Given the description of an element on the screen output the (x, y) to click on. 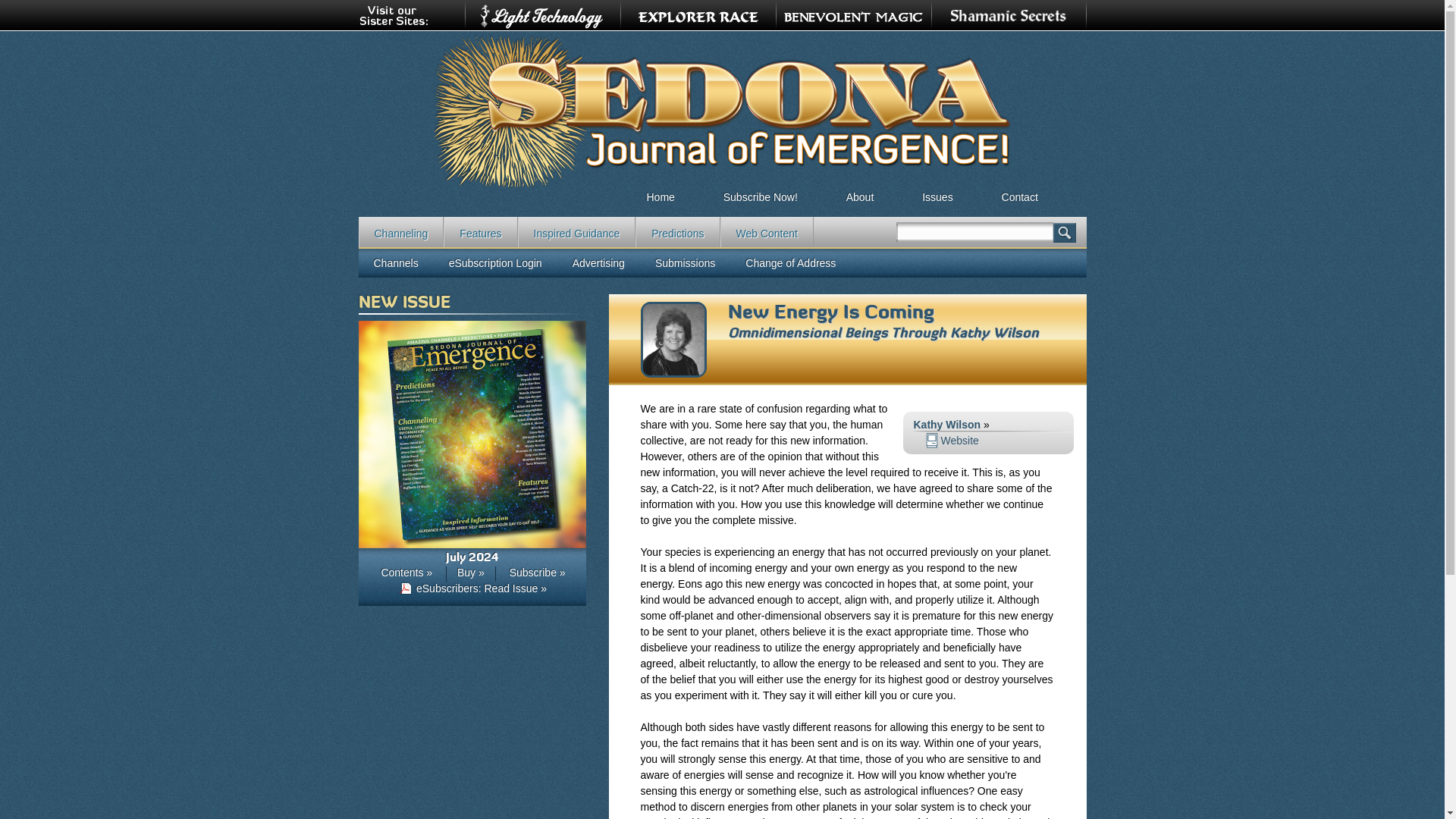
Predictions (676, 232)
Contact (1019, 192)
Issues (937, 192)
Subscribe Now! (760, 192)
Back Issues (937, 192)
Channeling (401, 232)
Kathy Wilson (945, 424)
Channels (395, 262)
Web Content (766, 232)
Kathy Wilson (673, 373)
Inspired Guidance (577, 232)
Search (1063, 232)
Website (950, 440)
Kathy Wilson (993, 332)
Home (660, 192)
